Given the description of an element on the screen output the (x, y) to click on. 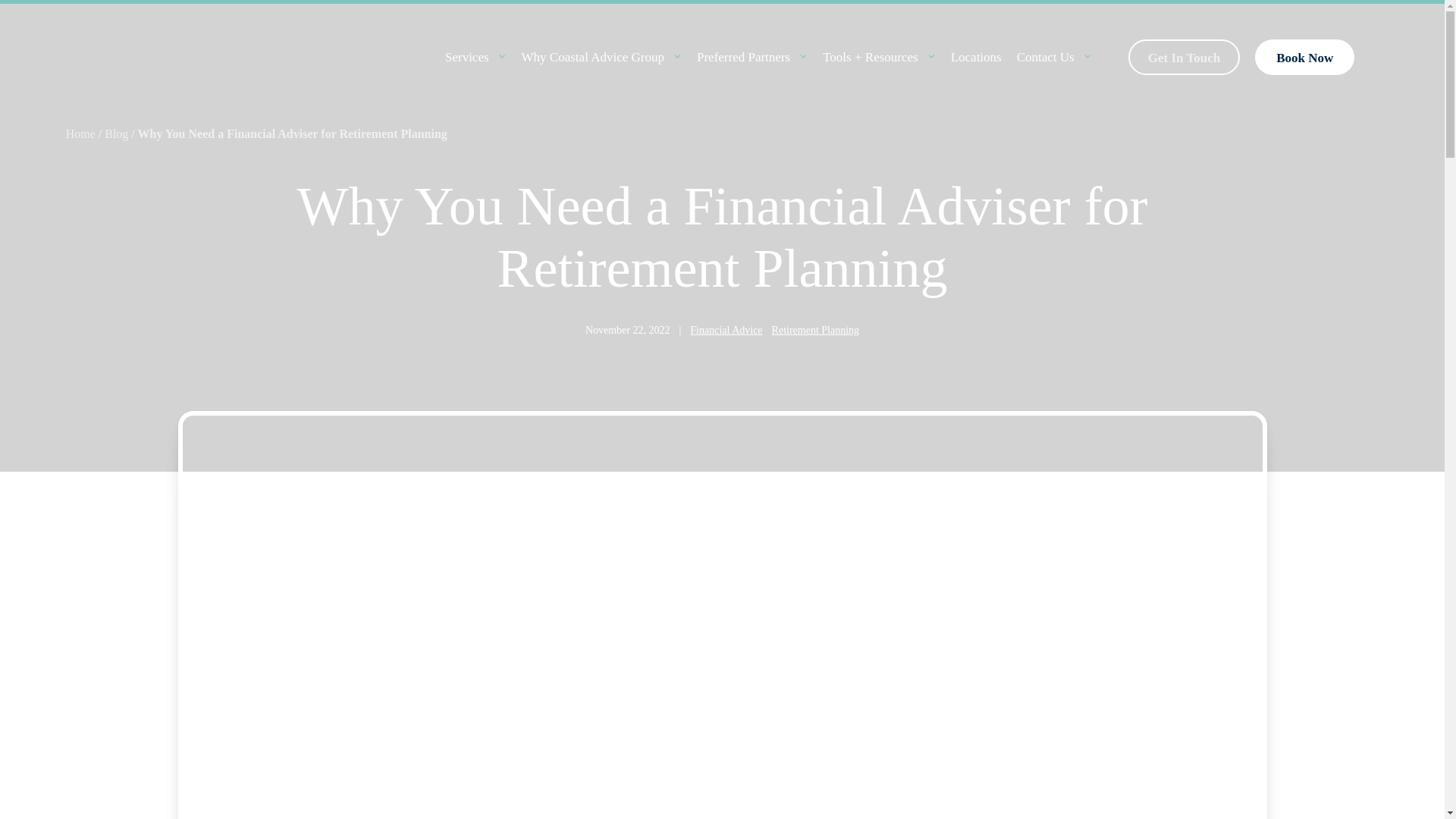
Book Now (1304, 57)
Get In Touch (1184, 57)
Retirement Planning (815, 330)
Services (467, 56)
Why Coastal Advice Group (592, 56)
Home (80, 133)
Contact Us (1045, 56)
Coastal Advice Group (128, 56)
Blog (116, 133)
Financial Advice (725, 330)
